Given the description of an element on the screen output the (x, y) to click on. 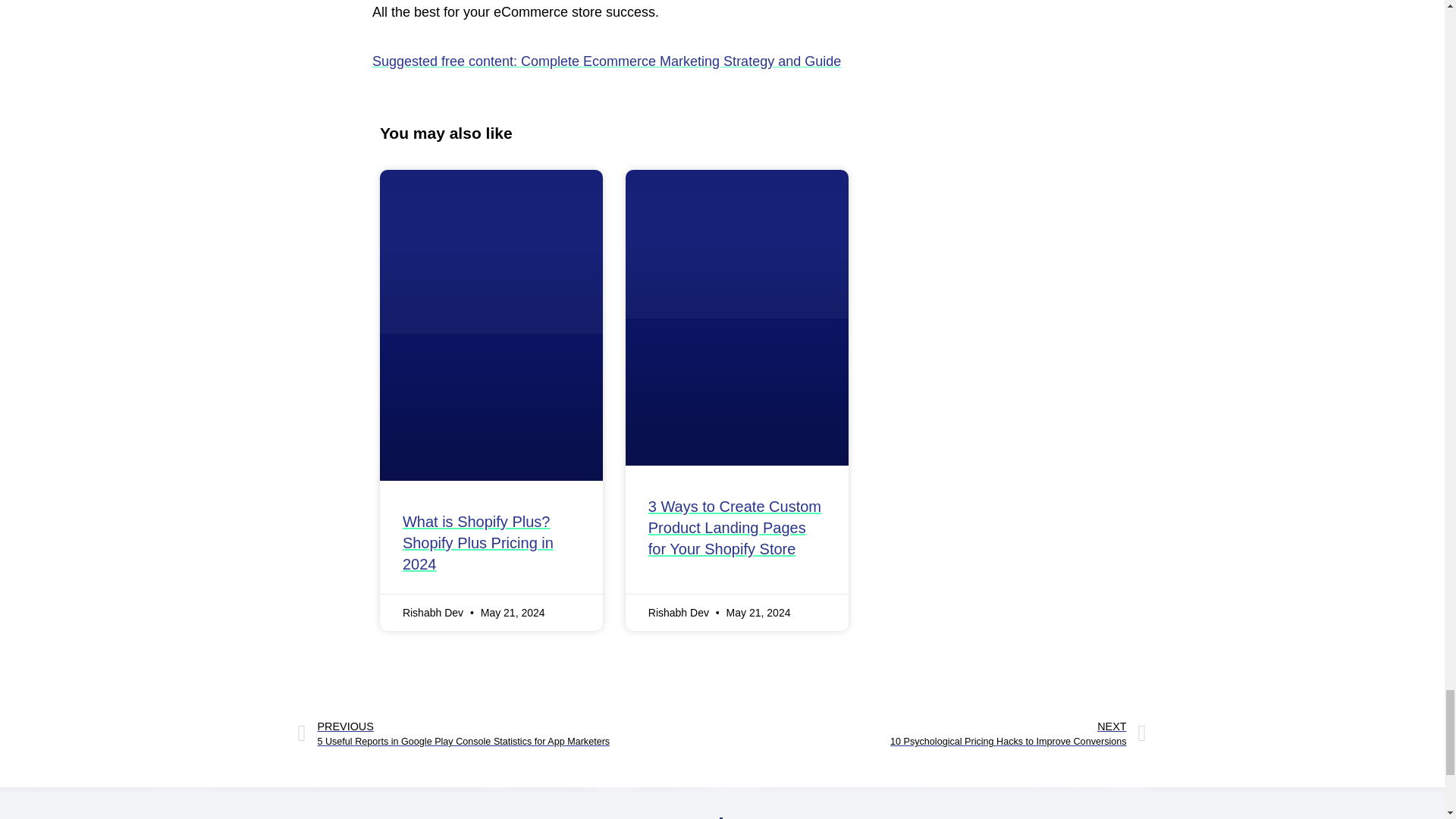
What is Shopify Plus? Shopify Plus Pricing in 2024 (934, 733)
